Given the description of an element on the screen output the (x, y) to click on. 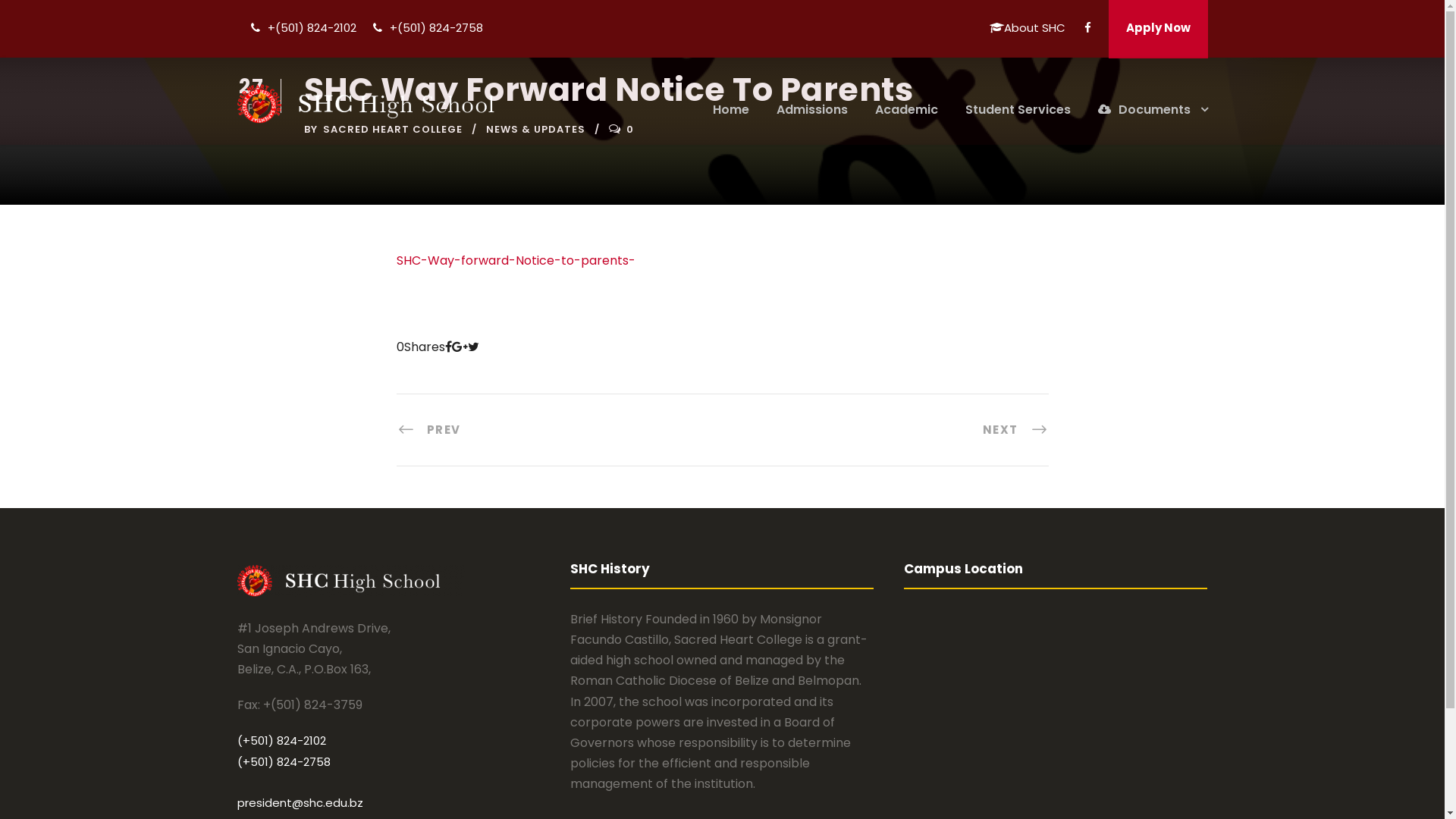
Home Element type: text (730, 116)
Academic Element type: text (906, 116)
Admissions Element type: text (811, 116)
NEWS & UPDATES Element type: text (534, 129)
SHC-Way-forward-Notice-to-parents- Element type: text (514, 260)
NEXT Element type: text (1015, 429)
Student Services Element type: text (1017, 116)
About SHC Element type: text (1026, 37)
president@shc.edu.bz Element type: text (299, 802)
SACRED HEART COLLEGE Element type: text (392, 129)
Documents Element type: text (1153, 116)
facebook Element type: hover (1087, 27)
Apply Now Element type: text (1158, 29)
PREV Element type: text (427, 429)
